Given the description of an element on the screen output the (x, y) to click on. 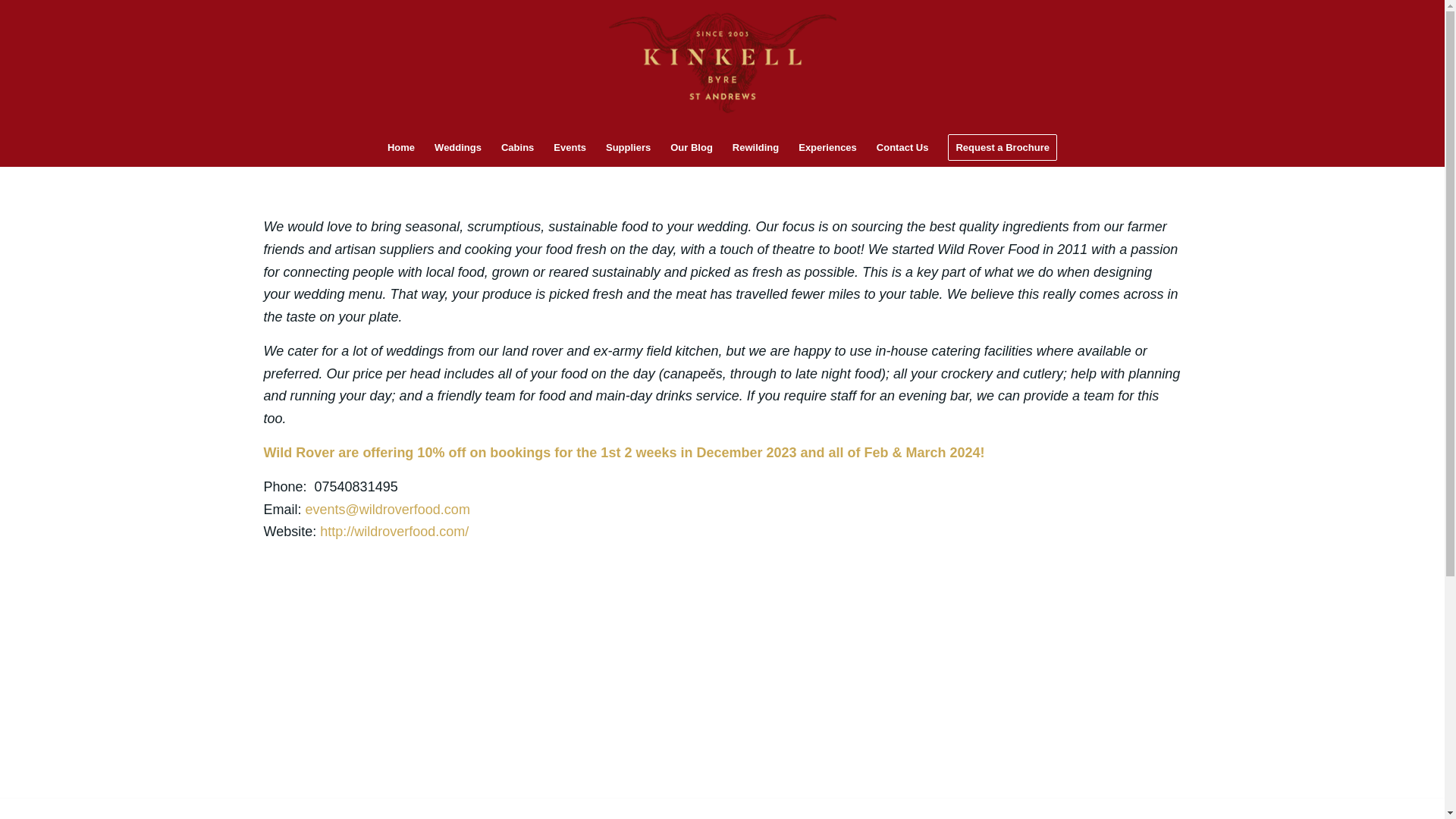
Request a Brochure (1002, 147)
image001 (650, 681)
Home (401, 147)
Rewilding (755, 147)
image003 (341, 681)
image004 (490, 675)
image001 (644, 675)
Experiences (827, 147)
Our Blog (691, 147)
Suppliers (628, 147)
image004 (496, 681)
Weddings (458, 147)
Contact Us (902, 147)
Events (569, 147)
image003 (335, 675)
